Given the description of an element on the screen output the (x, y) to click on. 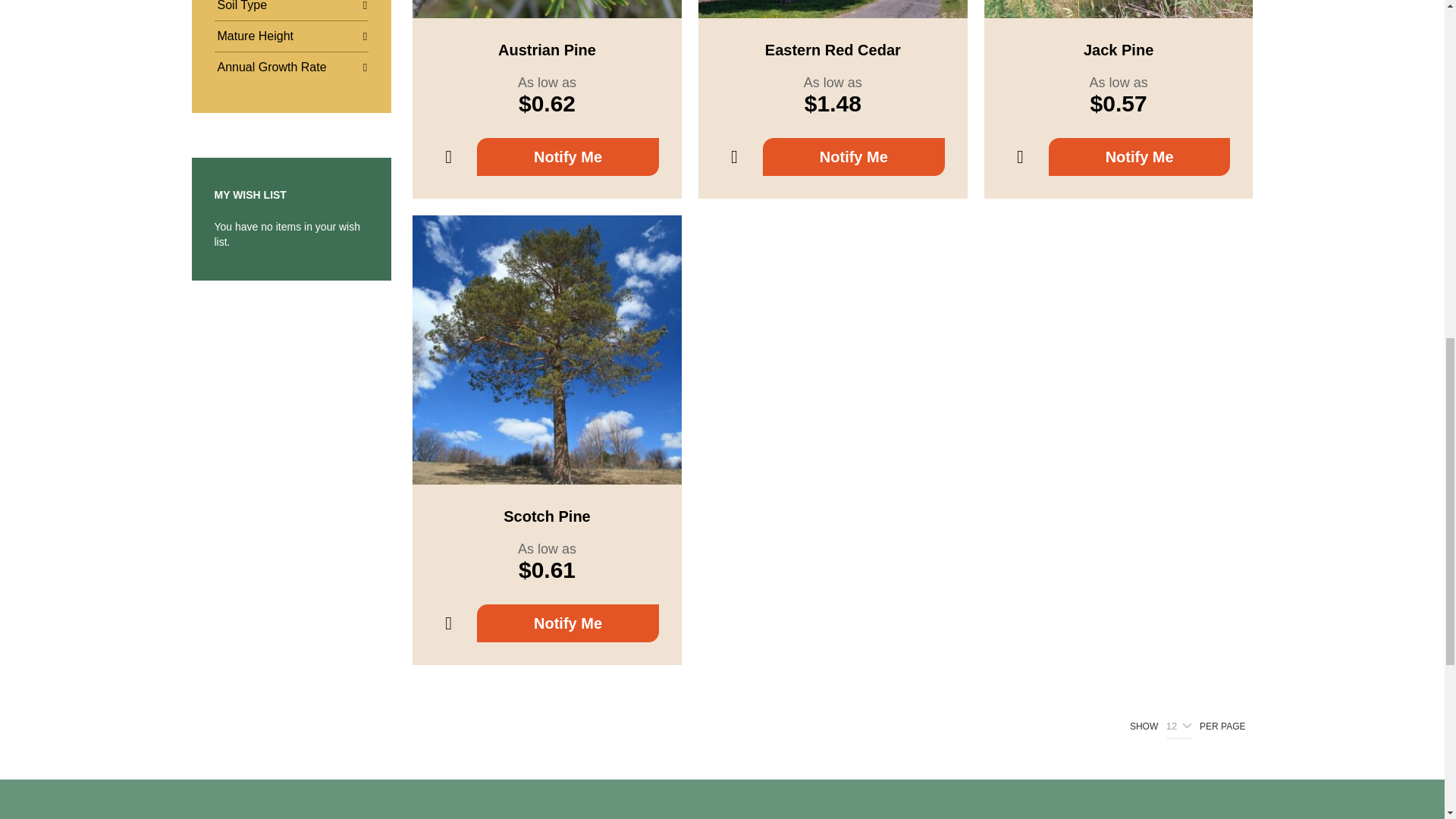
Add to Wish List (734, 157)
Add to Wish List (448, 623)
Add to Wish List (448, 157)
Add to Wish List (1020, 157)
